Given the description of an element on the screen output the (x, y) to click on. 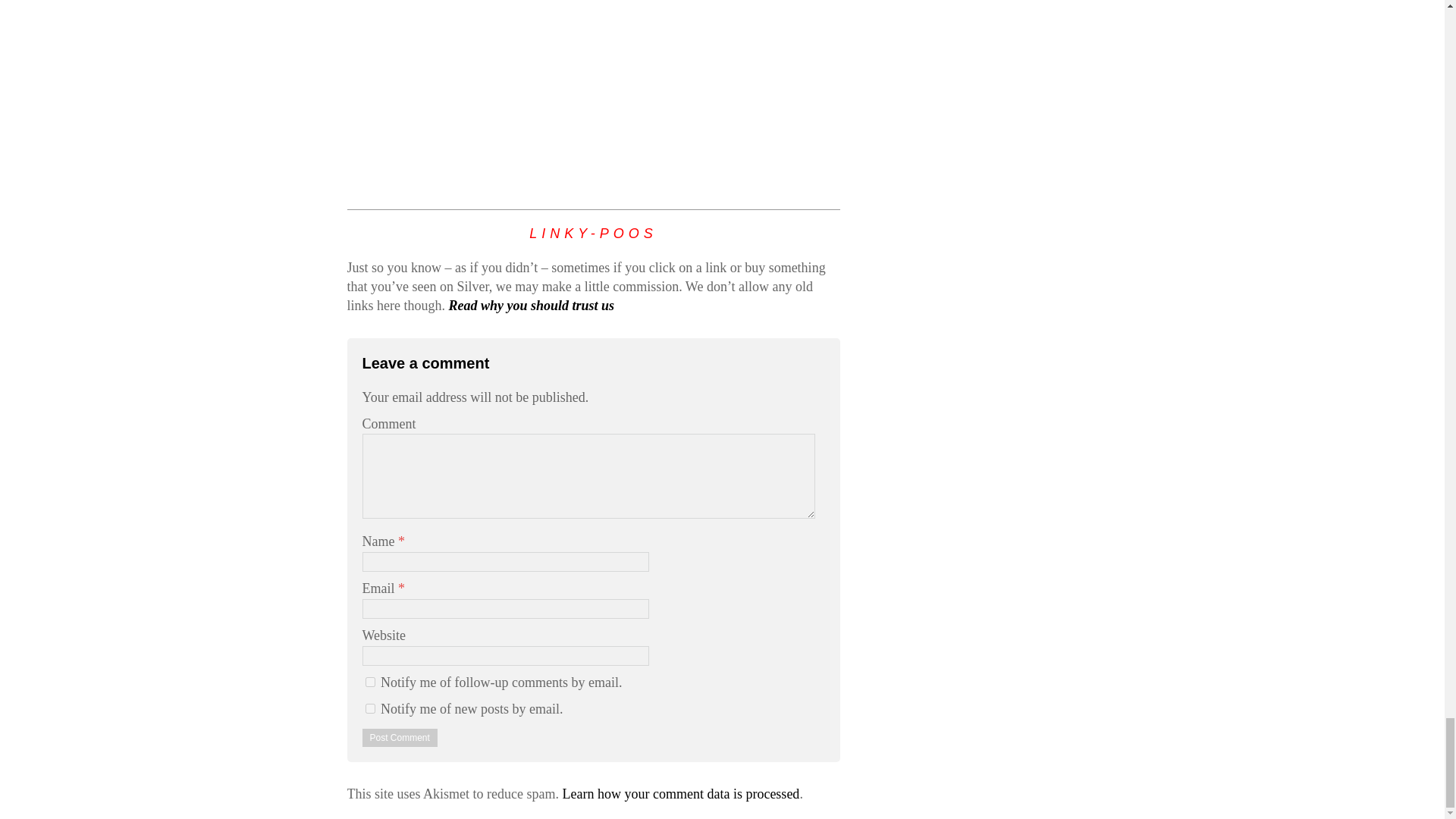
Post Comment (400, 737)
subscribe (370, 682)
subscribe (370, 708)
